Given the description of an element on the screen output the (x, y) to click on. 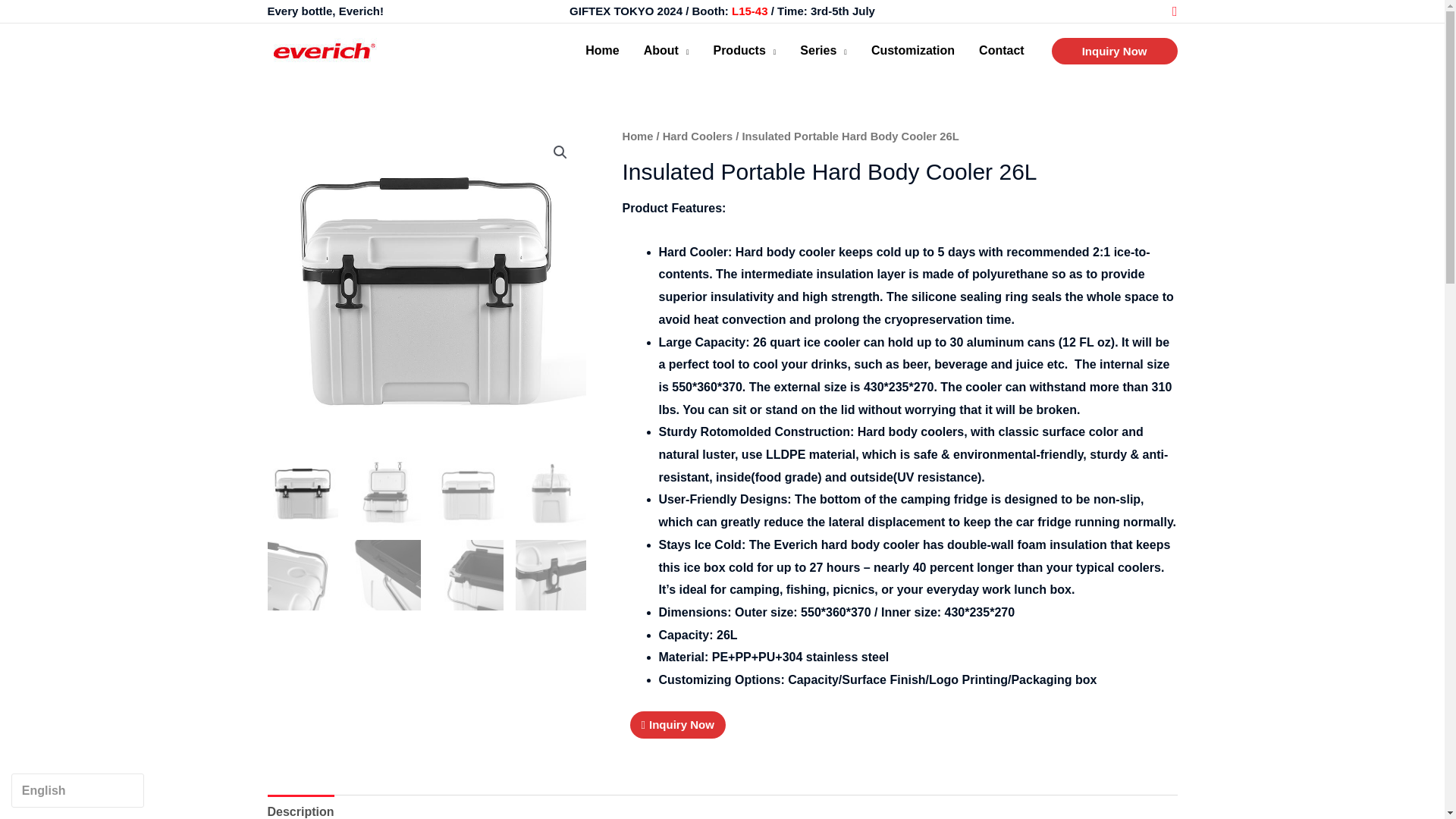
About (666, 50)
Products (743, 50)
Home (601, 50)
Series (823, 50)
